Given the description of an element on the screen output the (x, y) to click on. 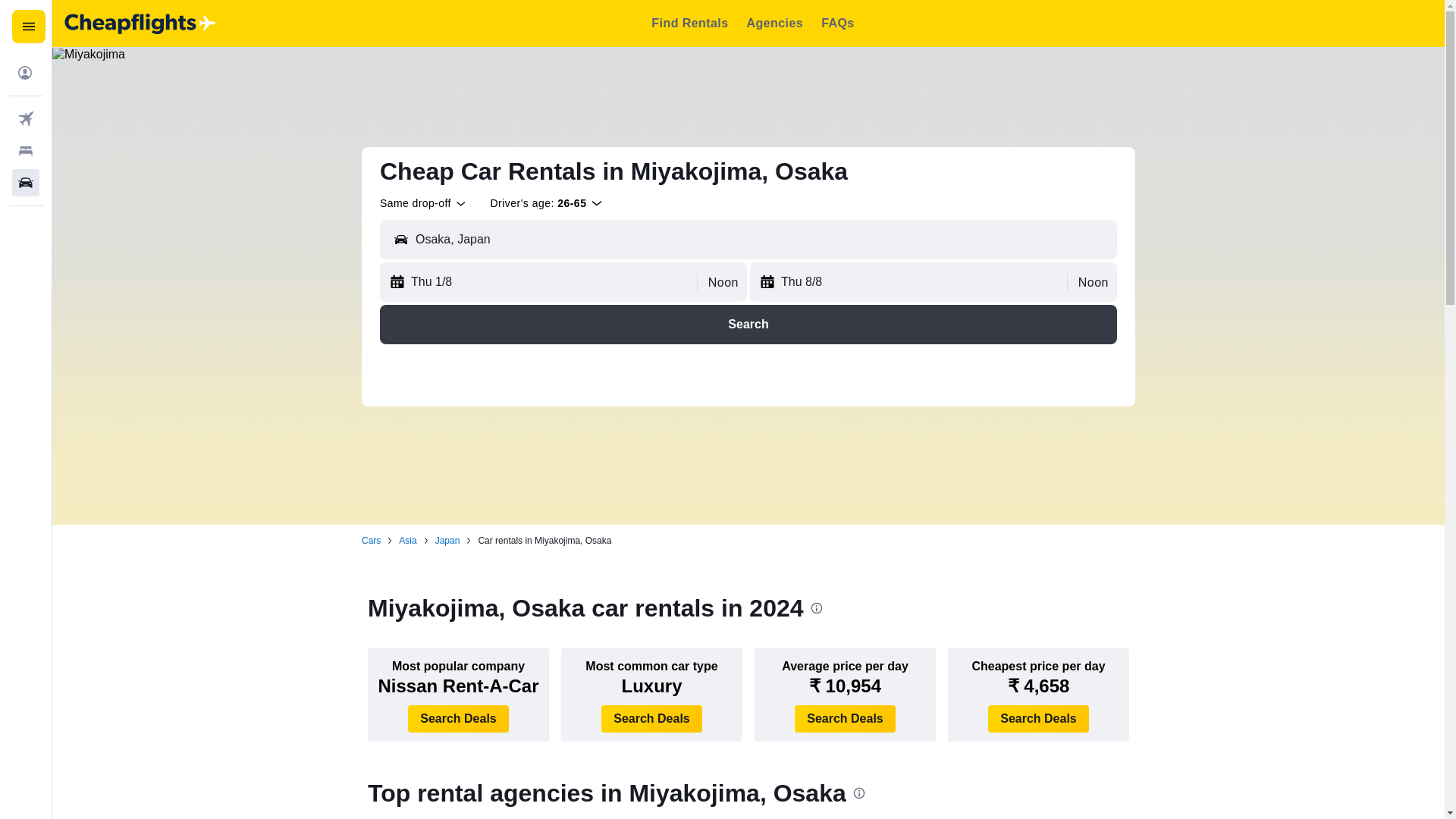
Asia (407, 540)
Search Deals (651, 718)
Search Deals (457, 718)
Search Deals (1038, 718)
Osaka, Japan (762, 239)
Japan (447, 540)
Search Deals (844, 718)
Search (748, 323)
Cars (370, 540)
Osaka, Japan (762, 239)
Search (748, 323)
